Given the description of an element on the screen output the (x, y) to click on. 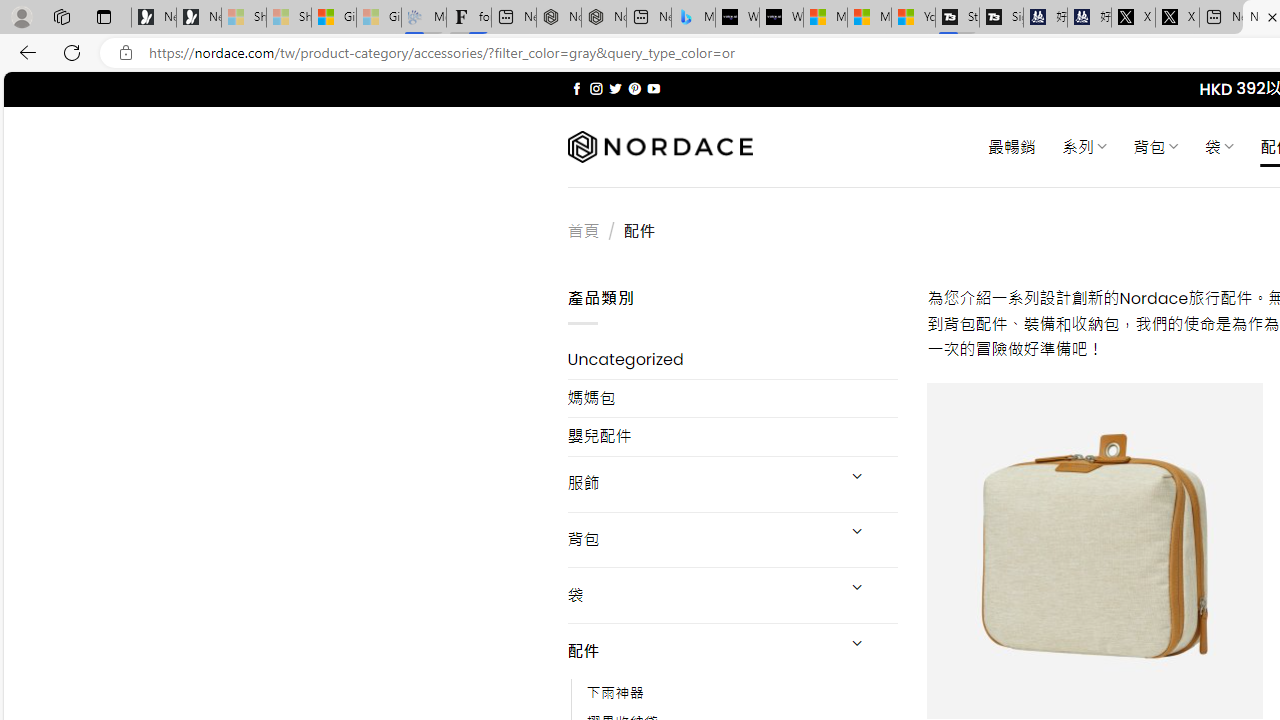
Follow on Instagram (596, 88)
Follow on Twitter (615, 88)
Streaming Coverage | T3 (957, 17)
